Given the description of an element on the screen output the (x, y) to click on. 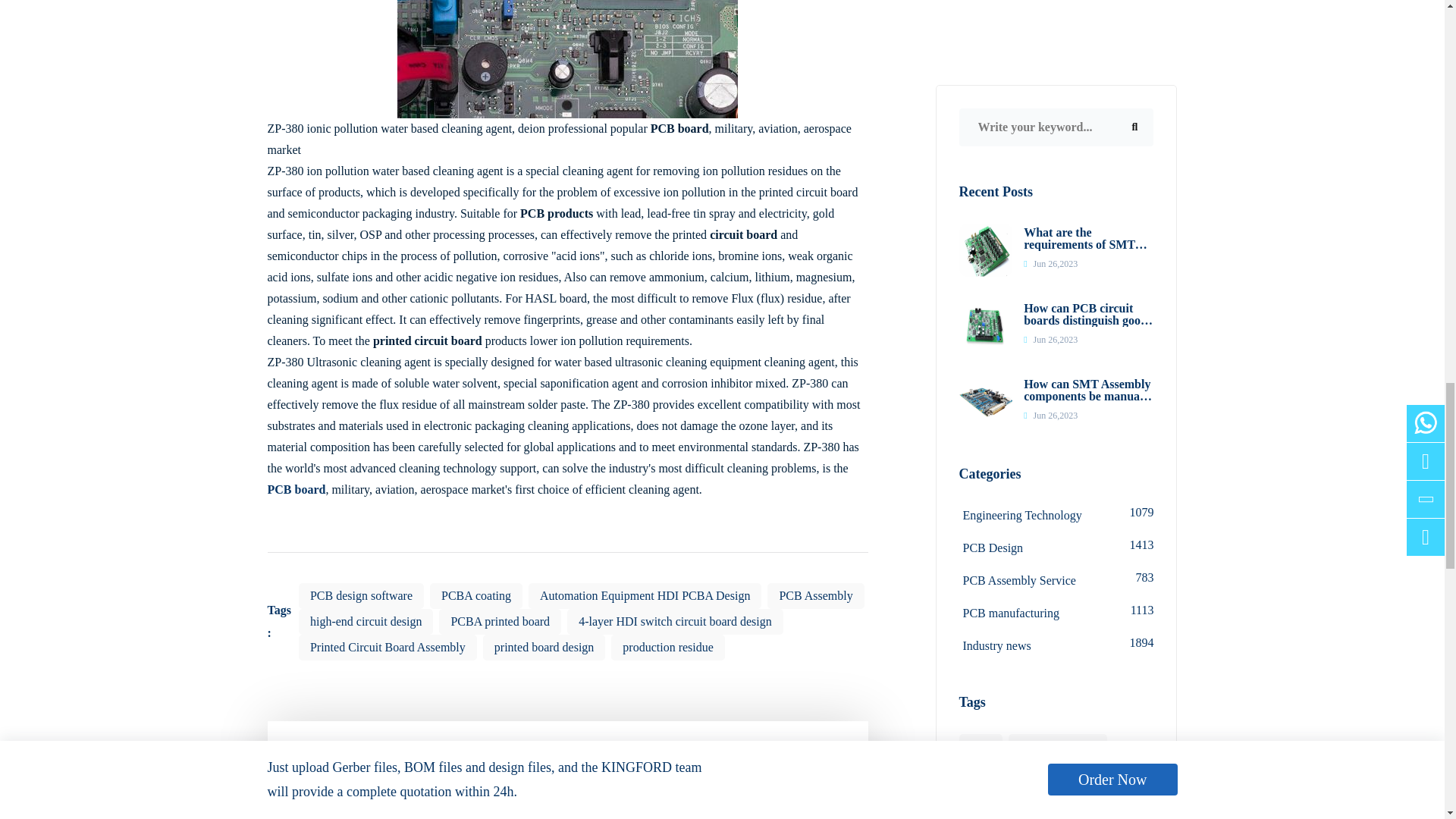
PCB products (567, 58)
